Given the description of an element on the screen output the (x, y) to click on. 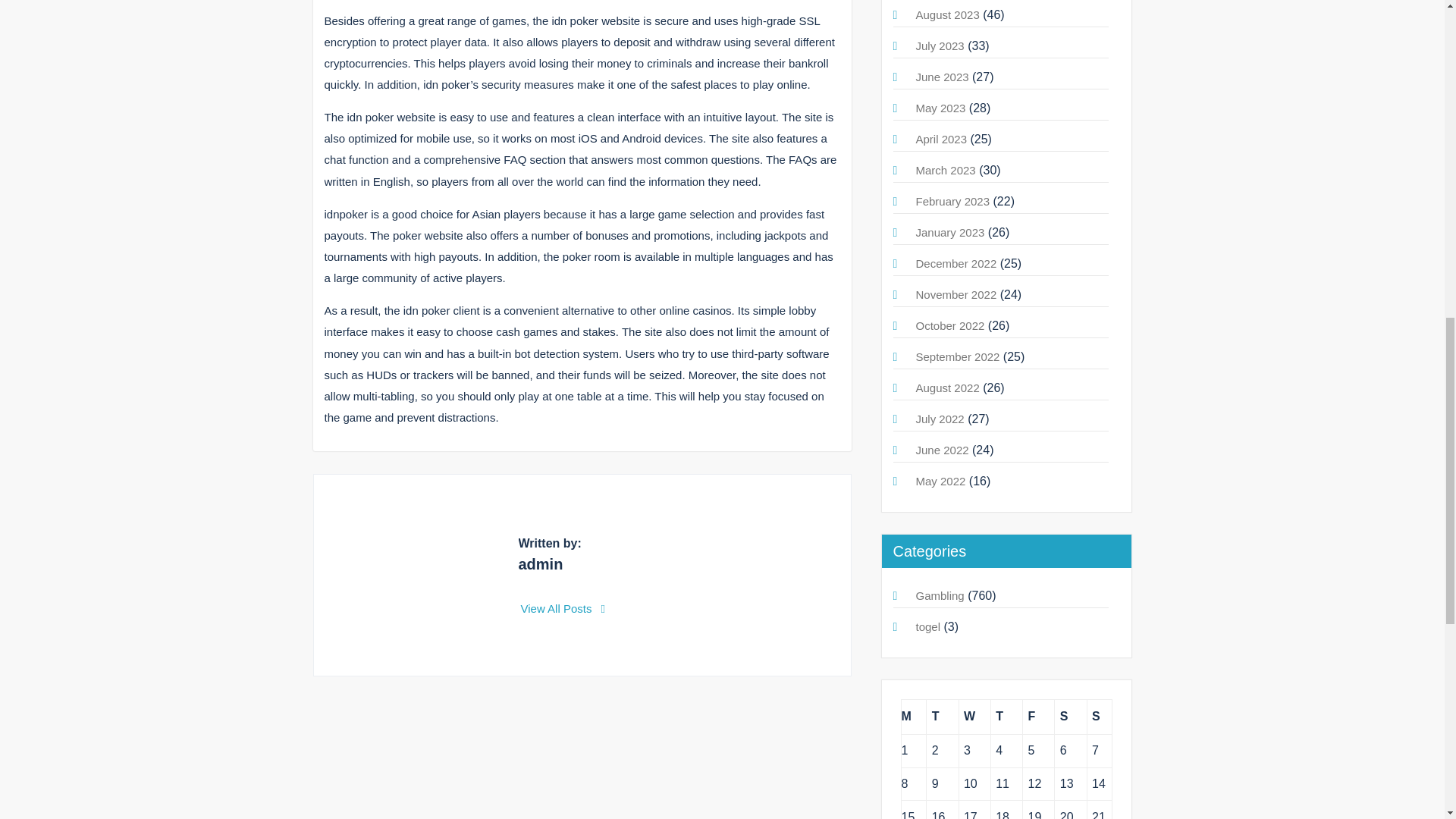
October 2022 (950, 325)
Tuesday (942, 716)
September 2022 (957, 356)
June 2022 (942, 449)
Friday (1038, 716)
Wednesday (974, 716)
July 2023 (939, 45)
July 2022 (939, 418)
May 2022 (940, 481)
August 2023 (947, 14)
May 2023 (940, 107)
View All Posts (562, 608)
December 2022 (956, 263)
January 2023 (950, 232)
April 2023 (941, 138)
